Given the description of an element on the screen output the (x, y) to click on. 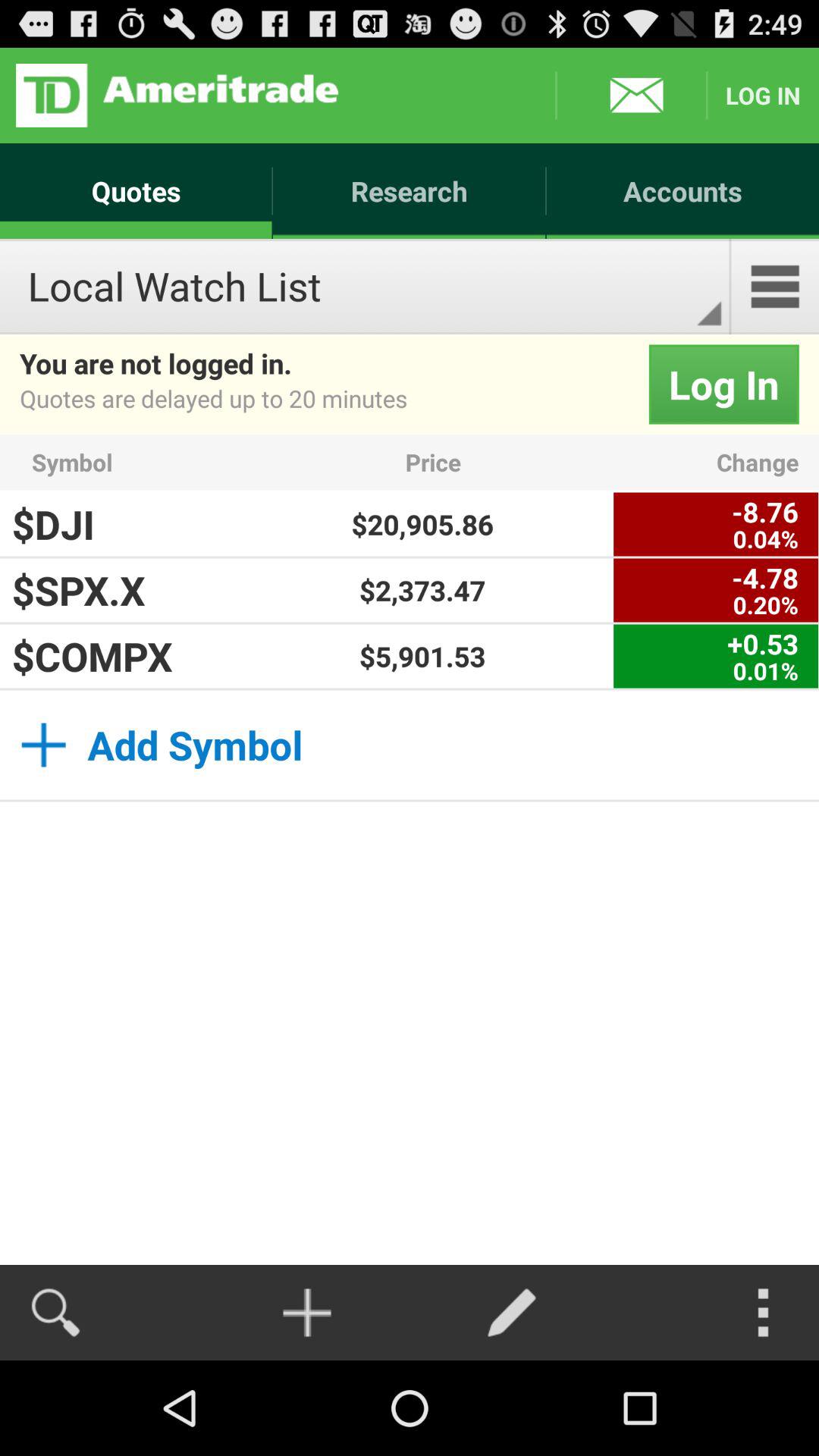
choose the icon below accounts app (775, 286)
